Given the description of an element on the screen output the (x, y) to click on. 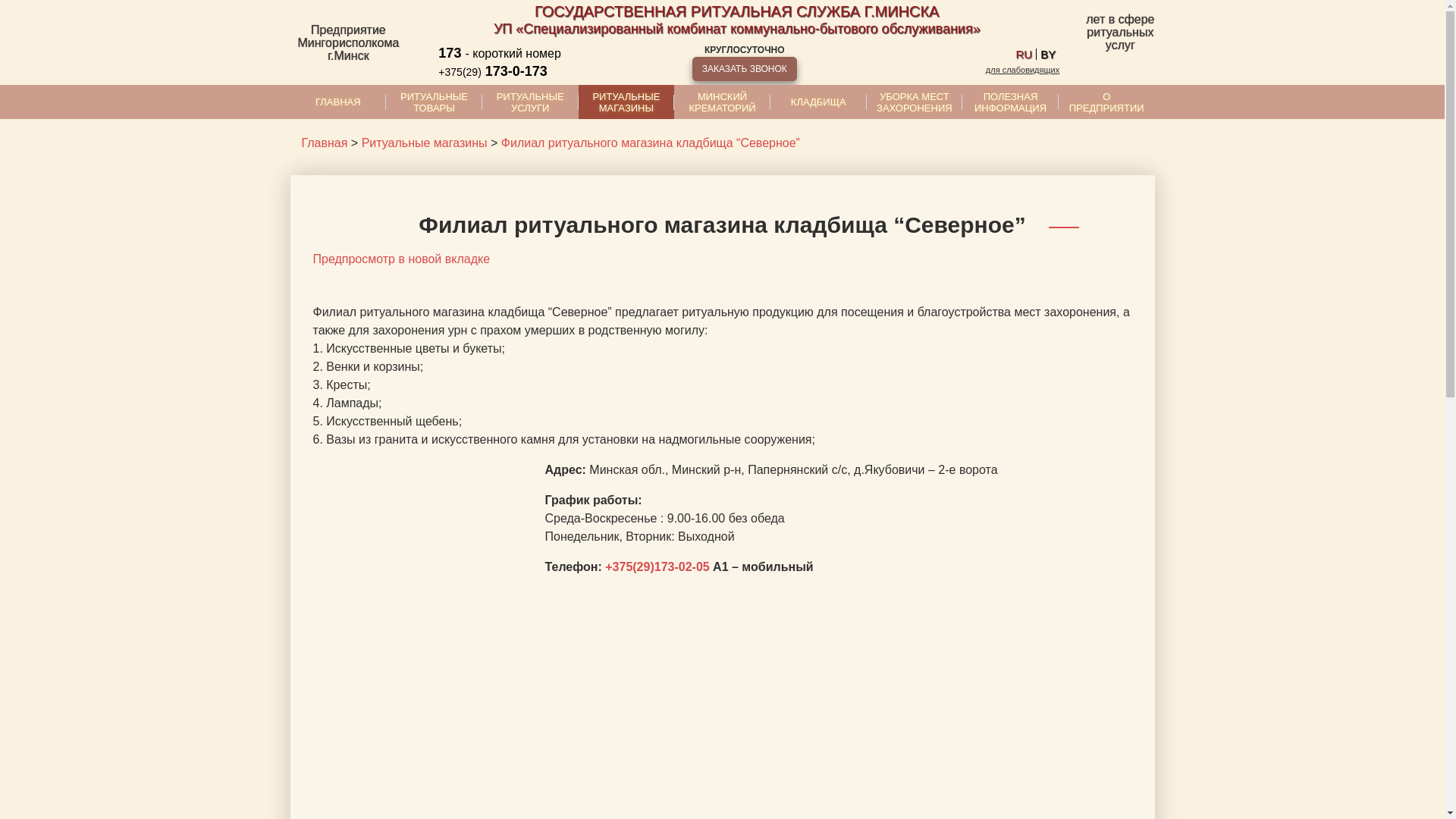
+375(29)173-02-05 Element type: text (657, 566)
BY Element type: text (1047, 53)
+375(29) 173-0-173 Element type: text (519, 70)
RU Element type: text (1024, 53)
